Given the description of an element on the screen output the (x, y) to click on. 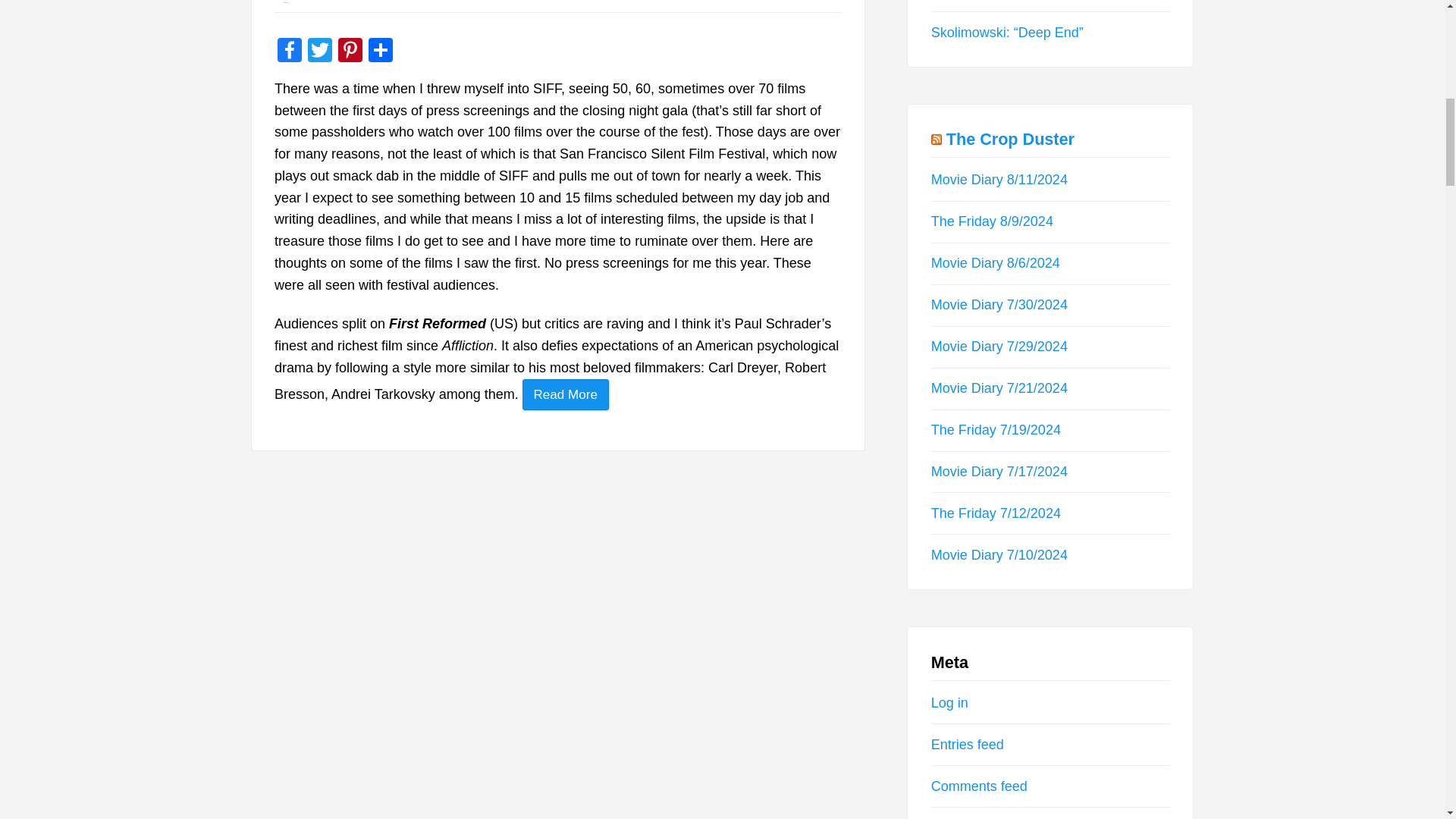
The Crop Duster (1010, 138)
Facebook (289, 51)
Facebook (289, 51)
Pinterest (349, 51)
Twitter (319, 51)
Twitter (319, 51)
Pinterest (349, 51)
